Given the description of an element on the screen output the (x, y) to click on. 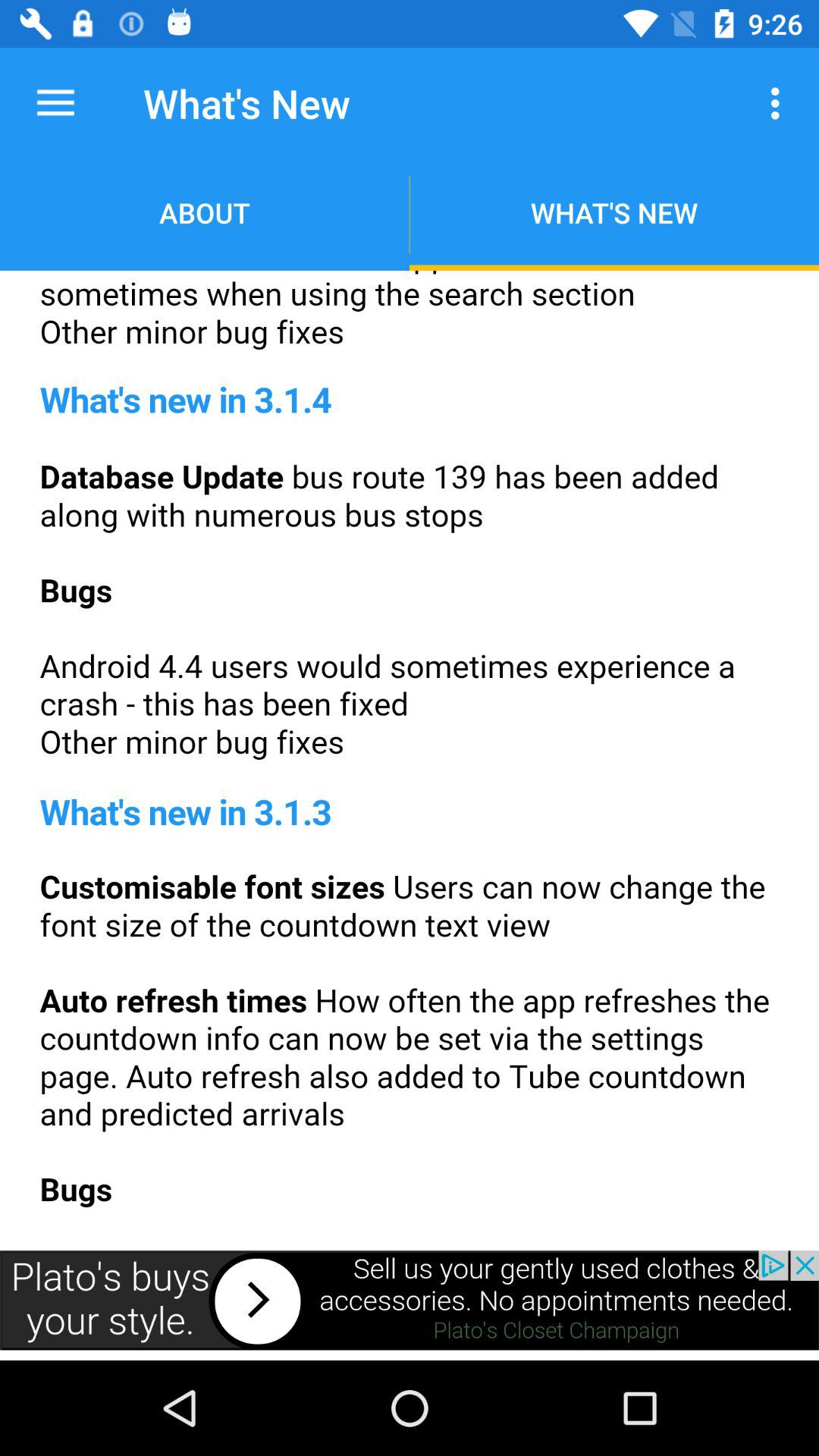
advertisement (409, 755)
